Given the description of an element on the screen output the (x, y) to click on. 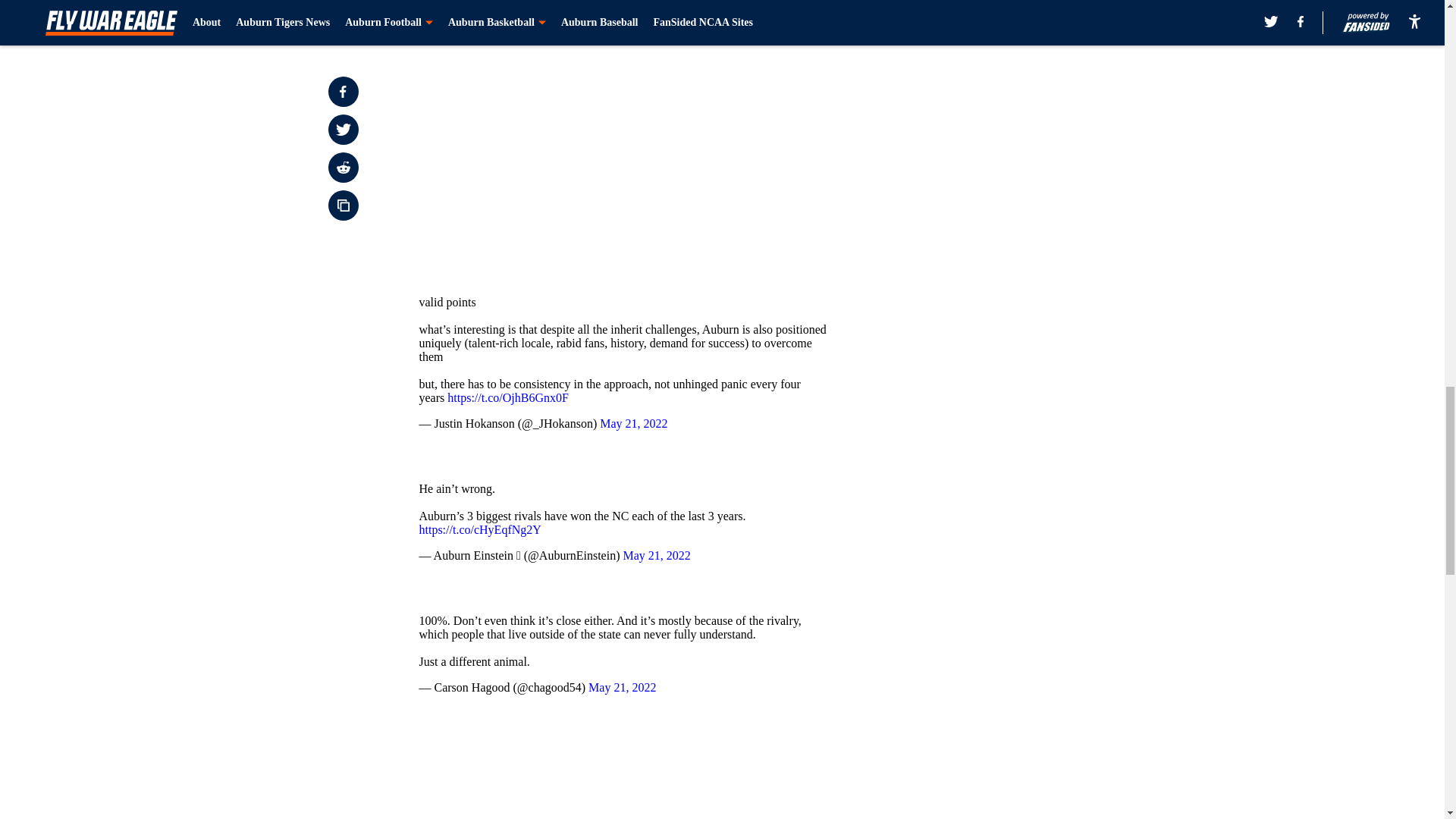
May 21, 2022 (632, 422)
May 21, 2022 (656, 554)
May 21, 2022 (622, 686)
May 21, 2022 (611, 2)
